Given the description of an element on the screen output the (x, y) to click on. 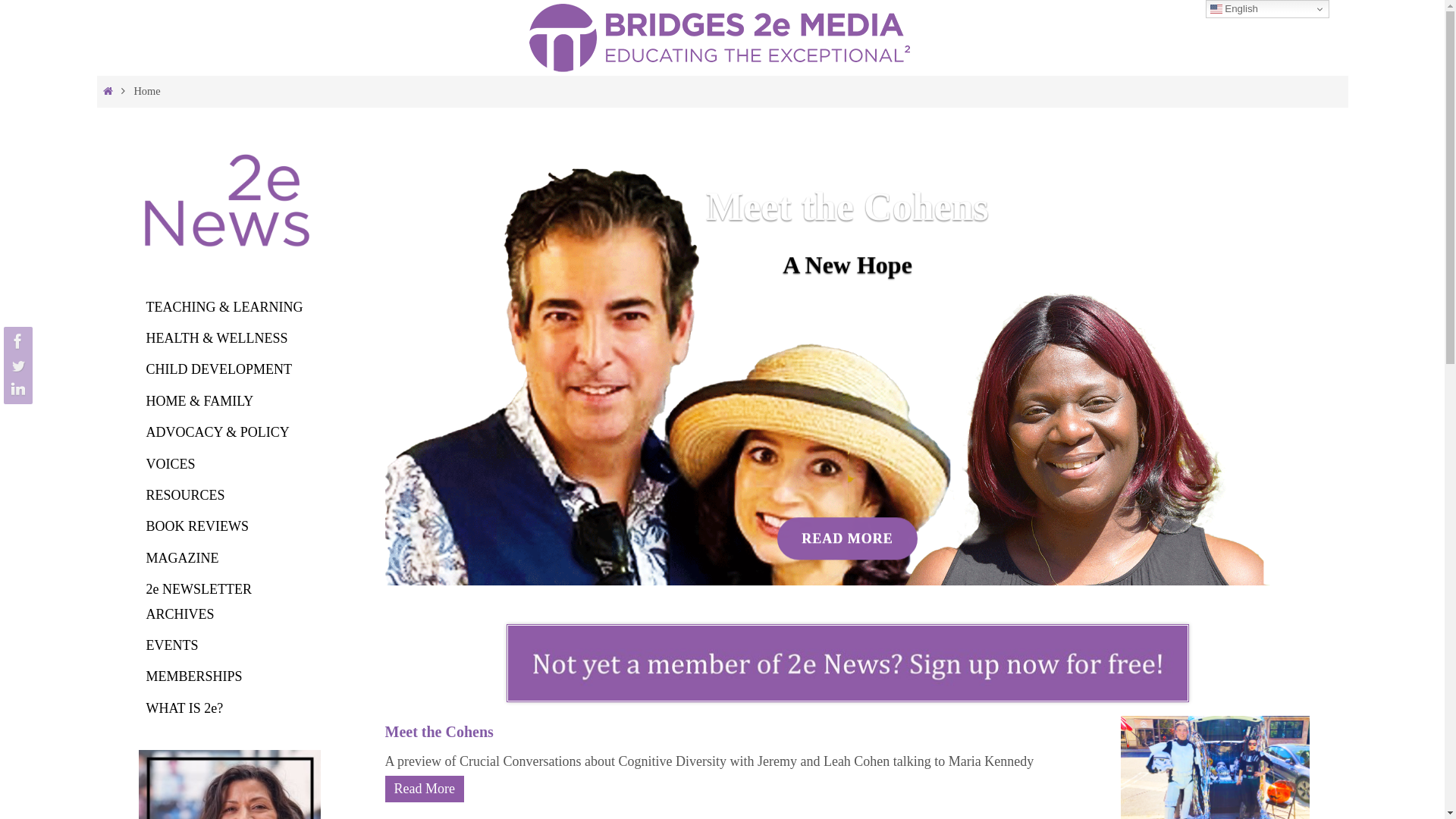
BOOK REVIEWS Element type: text (196, 526)
2e NEWSLETTER ARCHIVES Element type: text (198, 601)
Meet the Cohens Element type: text (439, 731)
Twitter Element type: hover (15, 365)
WHAT IS 2e? Element type: text (183, 708)
TEACHING & LEARNING Element type: text (223, 307)
MAGAZINE Element type: text (181, 558)
HOME & FAMILY Element type: text (199, 401)
VOICES Element type: text (169, 464)
Facebook Element type: hover (15, 340)
Read More Element type: text (424, 788)
EVENTS Element type: text (171, 645)
HEALTH & WELLNESS Element type: text (216, 338)
RESOURCES Element type: text (184, 495)
READ MORE Element type: text (847, 538)
ADVOCACY & POLICY Element type: text (216, 432)
MEMBERSHIPS Element type: text (193, 676)
English Element type: text (1267, 9)
LinkedIn Element type: hover (15, 389)
CHILD DEVELOPMENT Element type: text (218, 369)
